Given the description of an element on the screen output the (x, y) to click on. 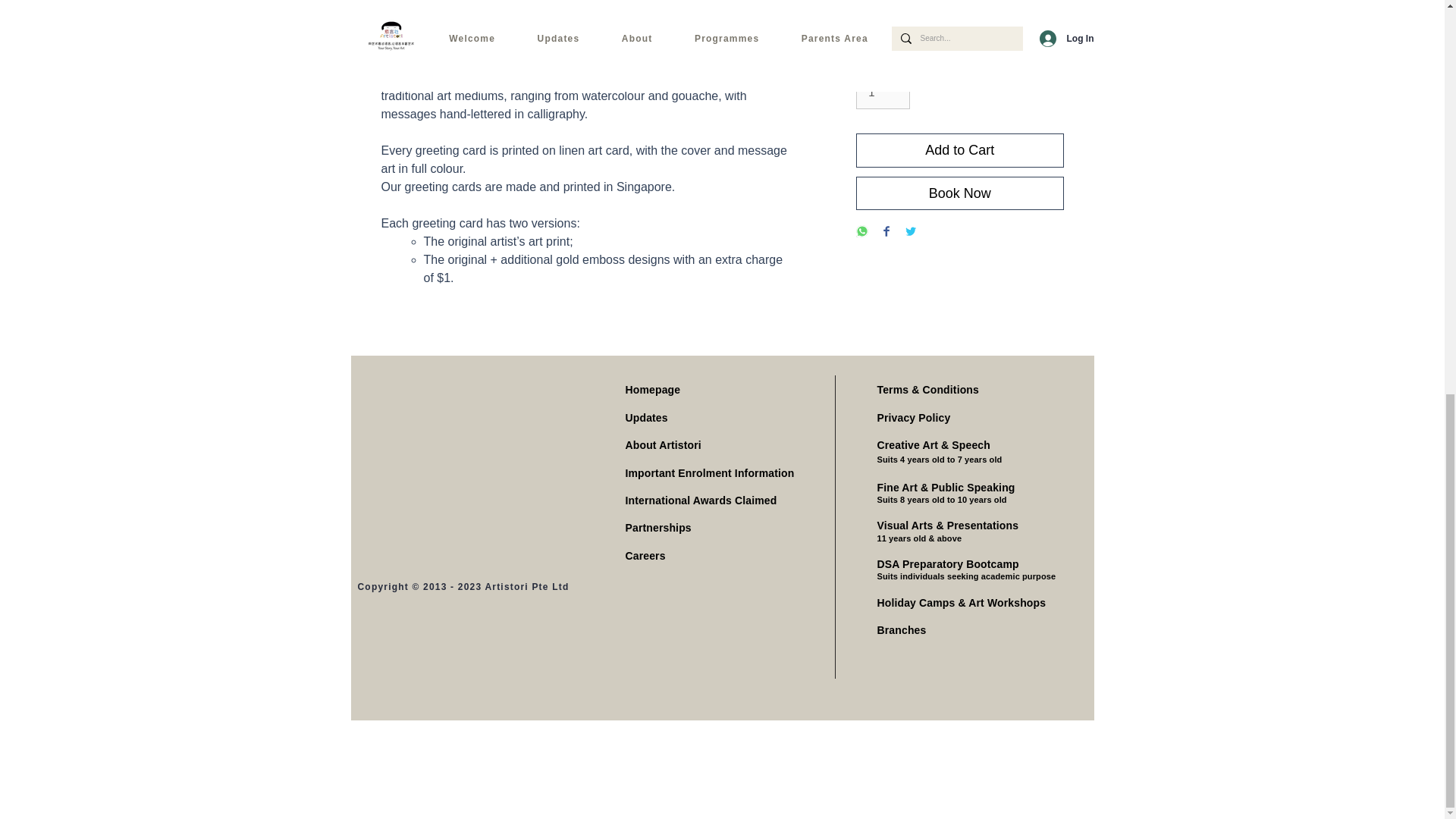
Select (959, 25)
Book Now (959, 192)
Updates (645, 417)
Homepage (651, 389)
International Awards Claimed (700, 500)
1 (883, 92)
Add to Cart (959, 150)
About Artistori (662, 444)
